Given the description of an element on the screen output the (x, y) to click on. 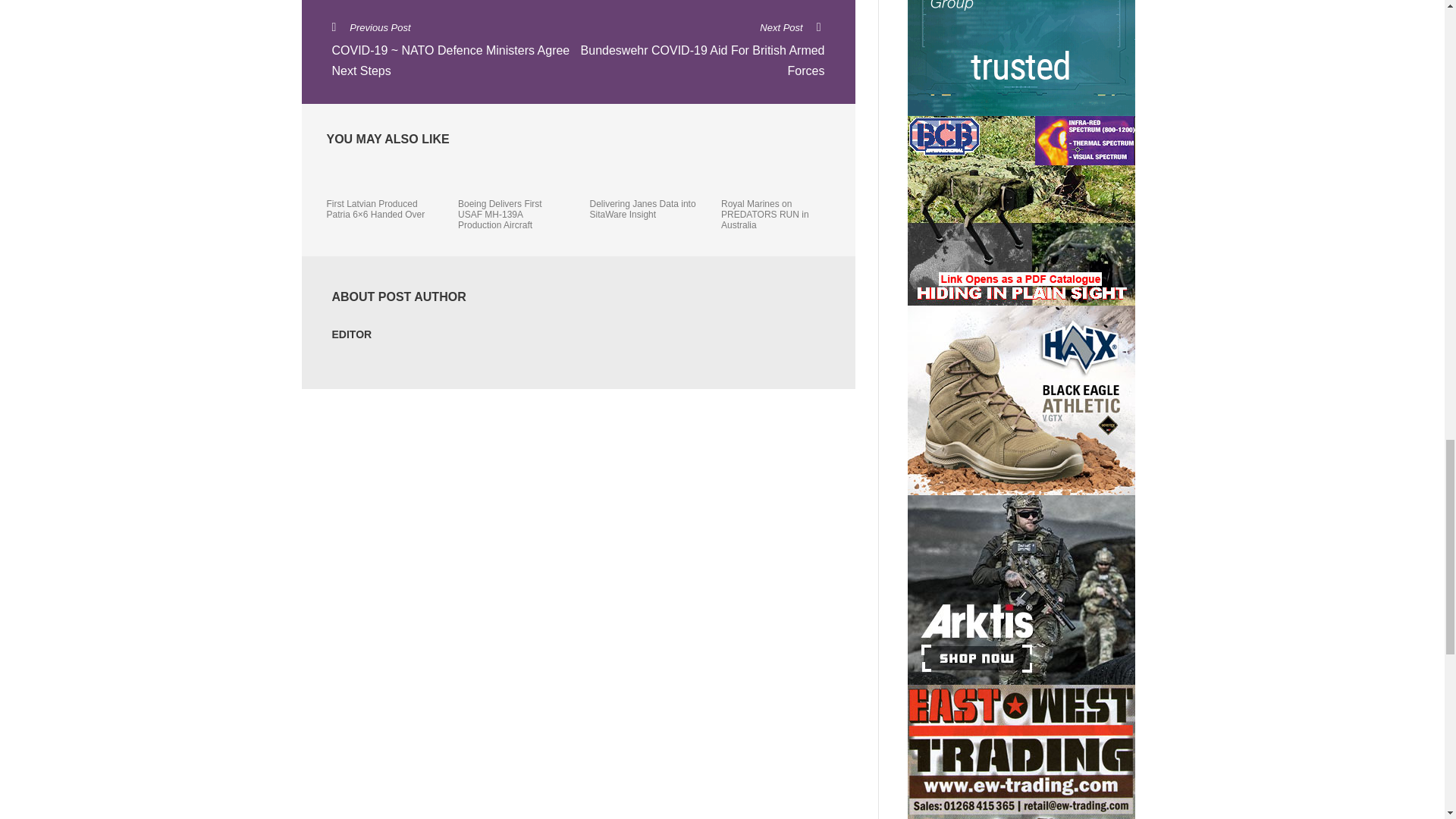
Posts by Editor (351, 334)
